Given the description of an element on the screen output the (x, y) to click on. 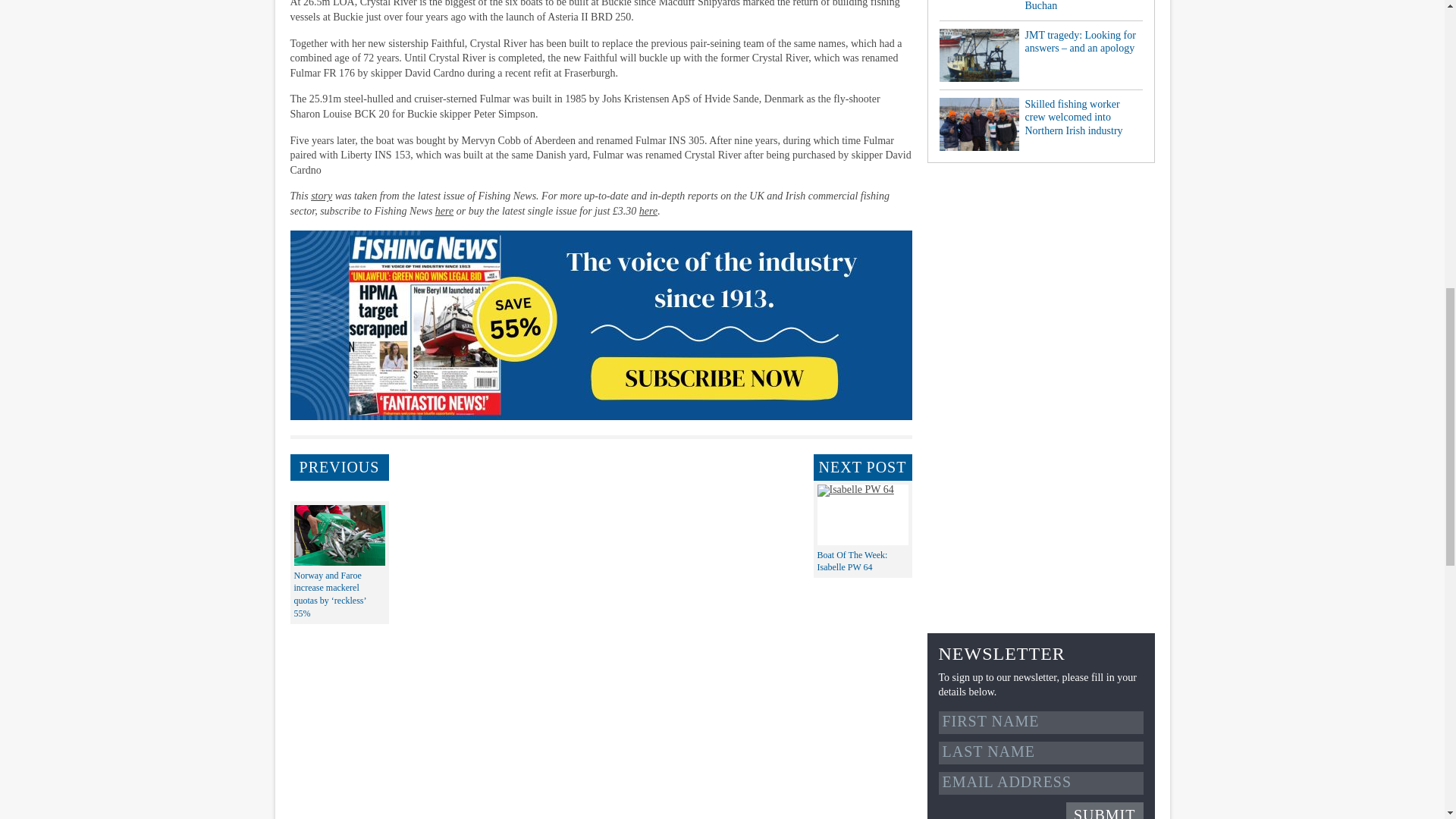
NEXT POST (861, 466)
story (321, 195)
Submit (1103, 810)
here (443, 211)
here (648, 211)
PREVIOUS POST (338, 466)
Boat Of The Week: Isabelle PW 64 (852, 560)
